Given the description of an element on the screen output the (x, y) to click on. 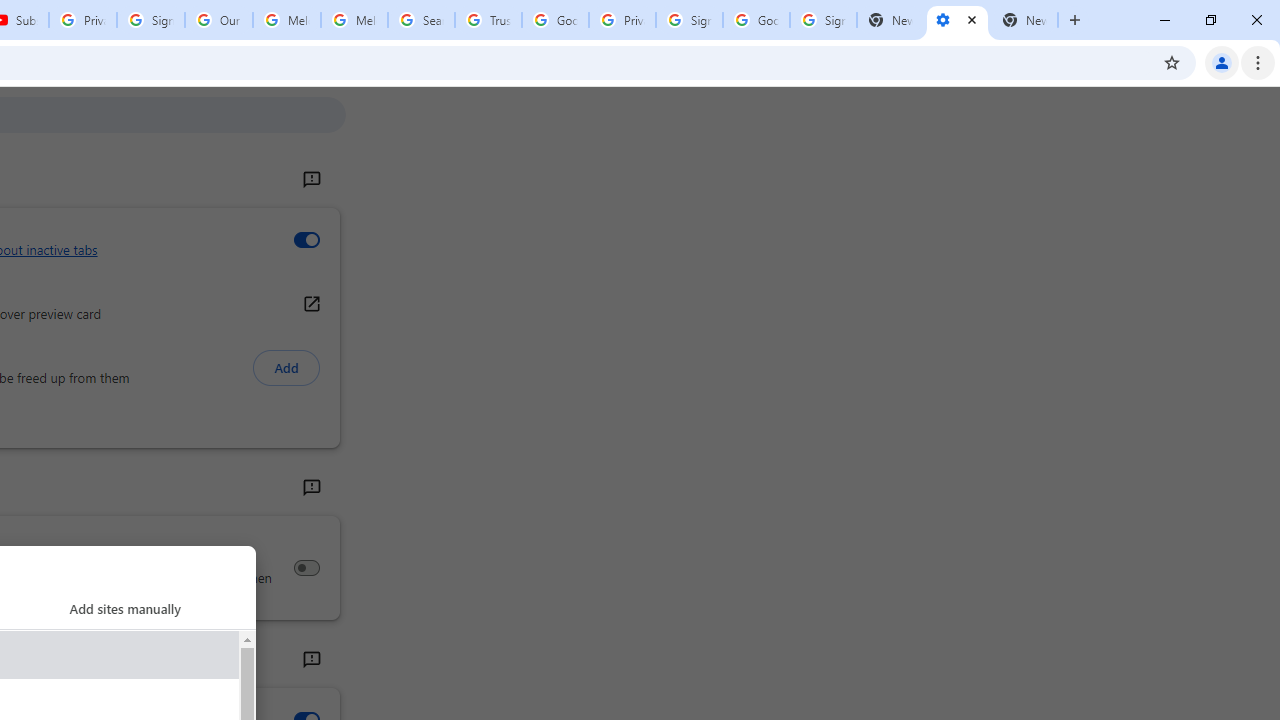
Search our Doodle Library Collection - Google Doodles (420, 20)
Sign in - Google Accounts (823, 20)
Trusted Information and Content - Google Safety Center (488, 20)
Sign in - Google Accounts (689, 20)
New Tab (1024, 20)
